Given the description of an element on the screen output the (x, y) to click on. 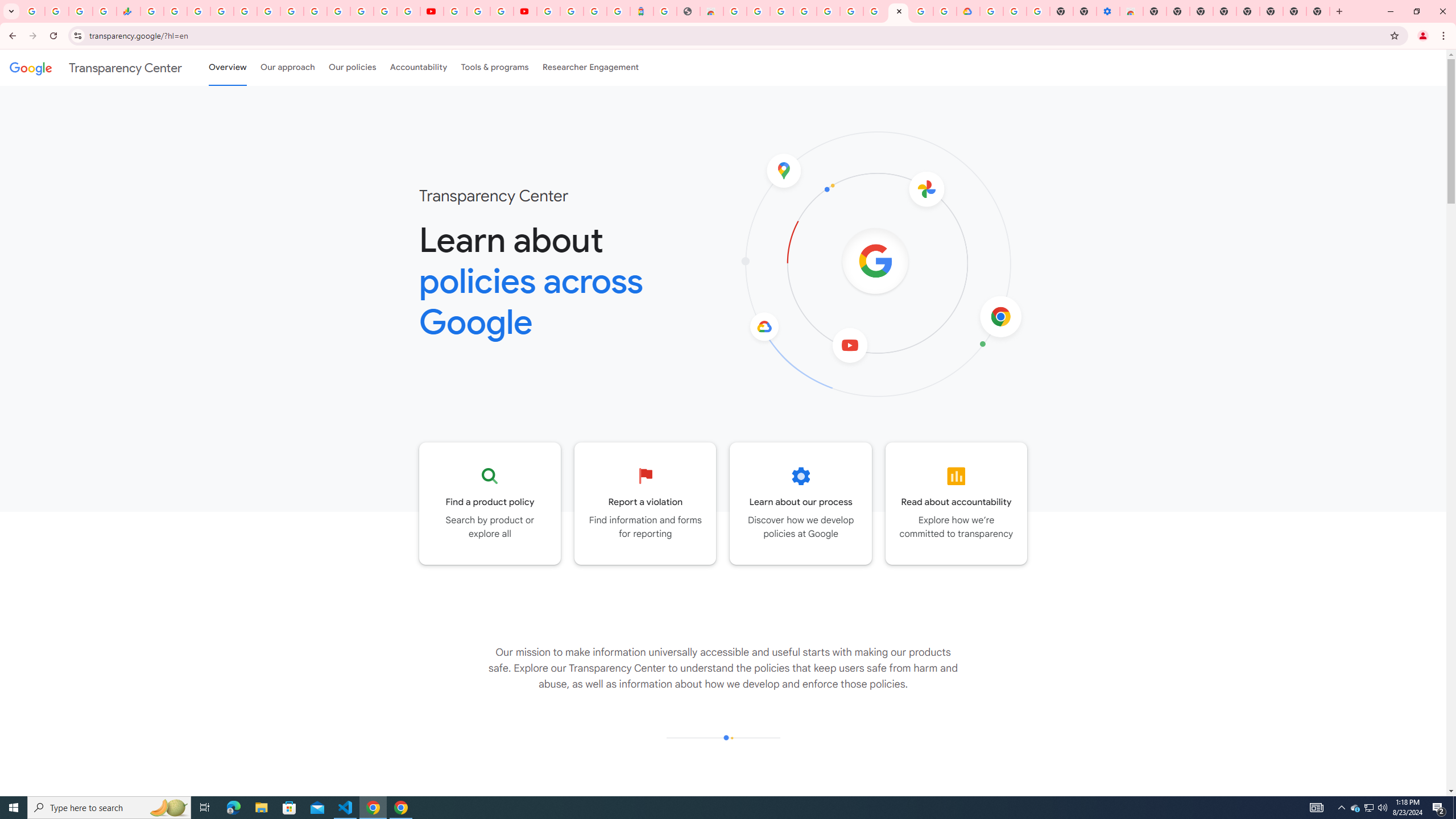
Sign in - Google Accounts (827, 11)
Browse the Google Chrome Community - Google Chrome Community (945, 11)
Tools & programs (494, 67)
Go to the Product policy page (490, 503)
Sign in - Google Accounts (571, 11)
Chrome Web Store - Household (711, 11)
Privacy Checkup (408, 11)
Create your Google Account (501, 11)
Go to the Our process page (800, 503)
Atour Hotel - Google hotels (641, 11)
Google Account Help (478, 11)
New Tab (1318, 11)
Search tabs (10, 11)
Sign in - Google Accounts (221, 11)
